Given the description of an element on the screen output the (x, y) to click on. 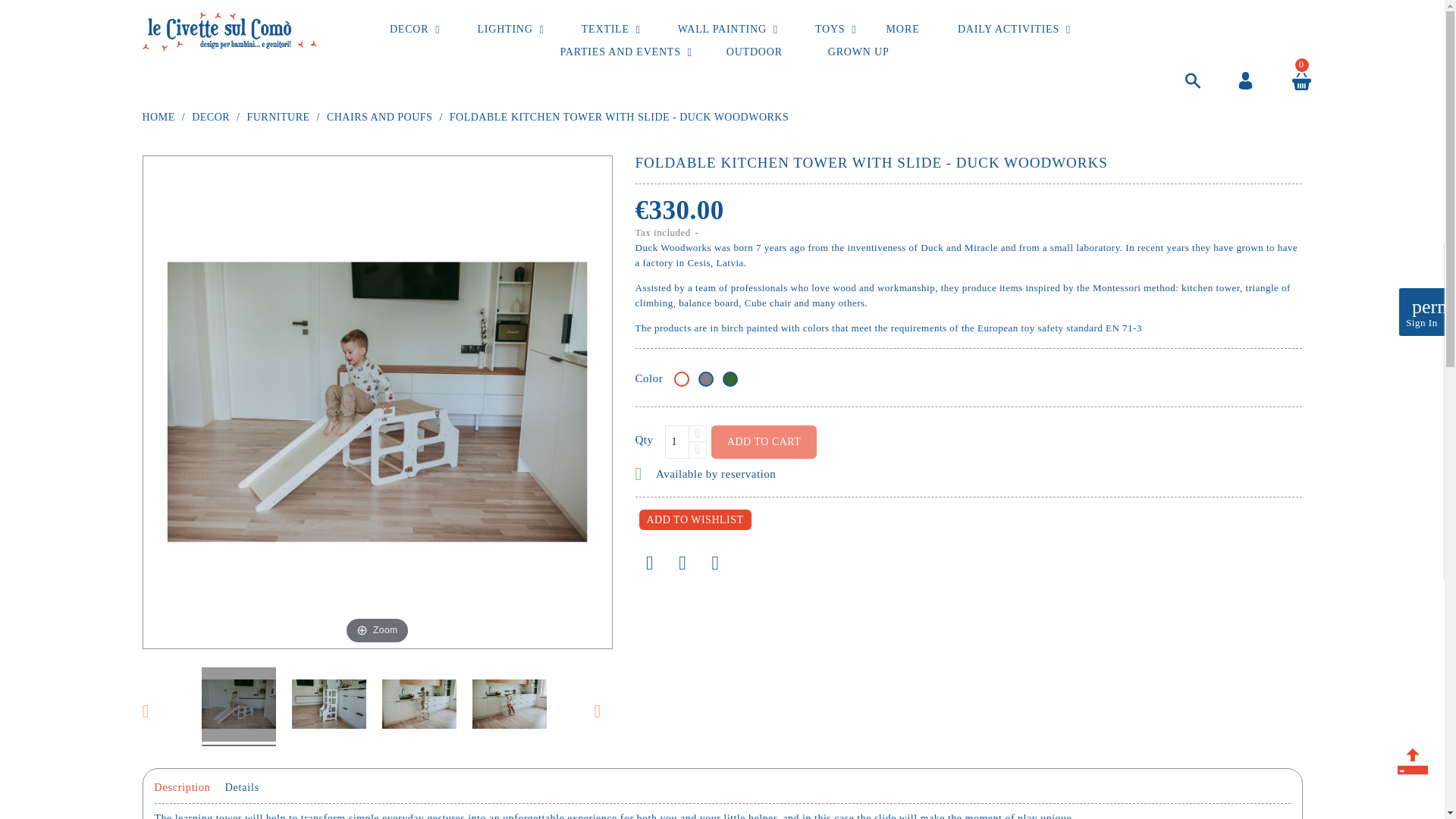
WALL PAINTING (722, 29)
DECOR (409, 29)
LIGHTING (504, 29)
Pinterest (715, 562)
MORE (901, 29)
Add to Wishlist (695, 519)
Tweet (682, 562)
TOYS (830, 29)
Share (649, 562)
TEXTILE (604, 29)
